Given the description of an element on the screen output the (x, y) to click on. 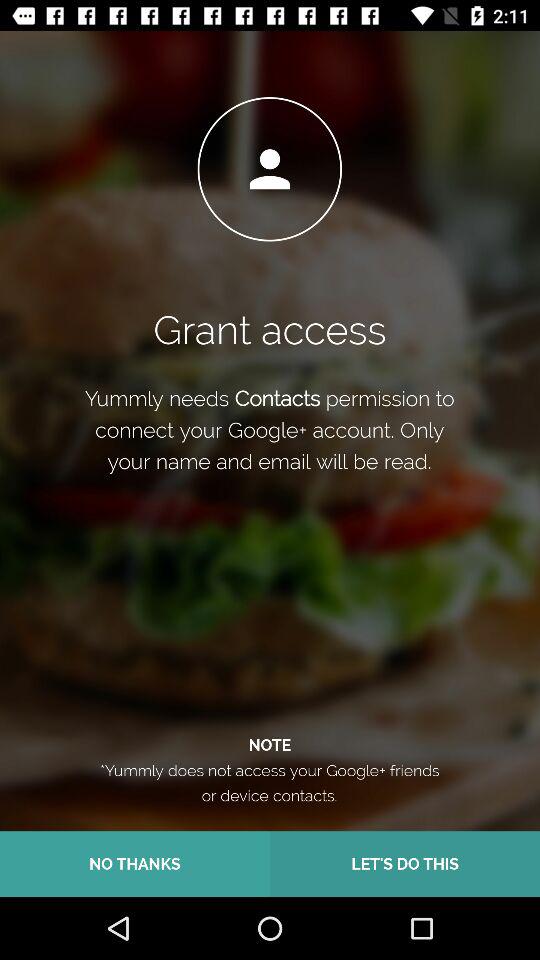
select the item to the left of the let s do icon (135, 863)
